Given the description of an element on the screen output the (x, y) to click on. 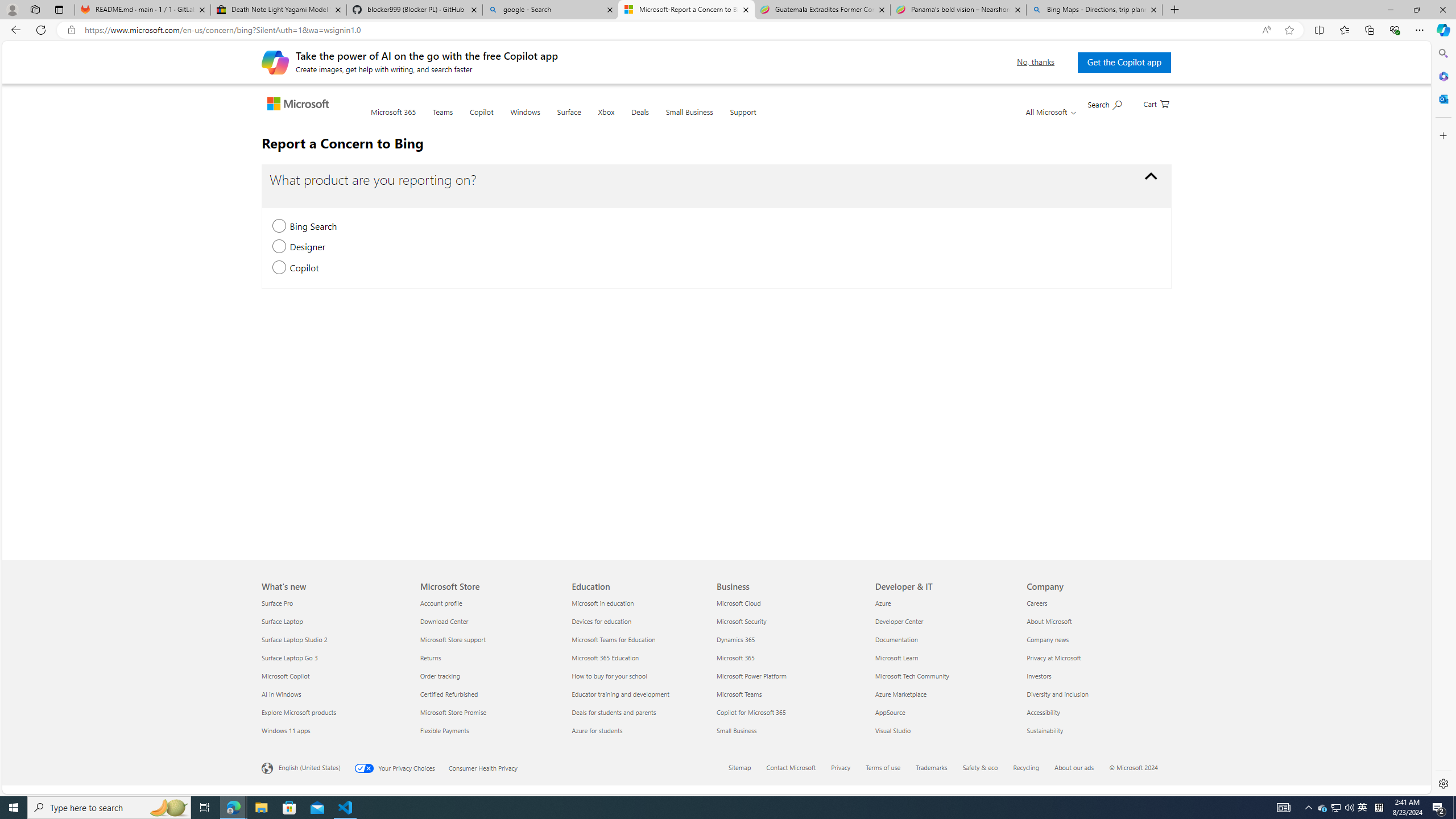
Azure (944, 602)
Teams (442, 118)
Educator training and development (641, 693)
Microsoft Teams for Education (641, 638)
Account profile (489, 602)
Microsoft Learn (944, 657)
Company news Company (1047, 638)
Recycling (1026, 766)
Azure Marketplace (944, 693)
